Given the description of an element on the screen output the (x, y) to click on. 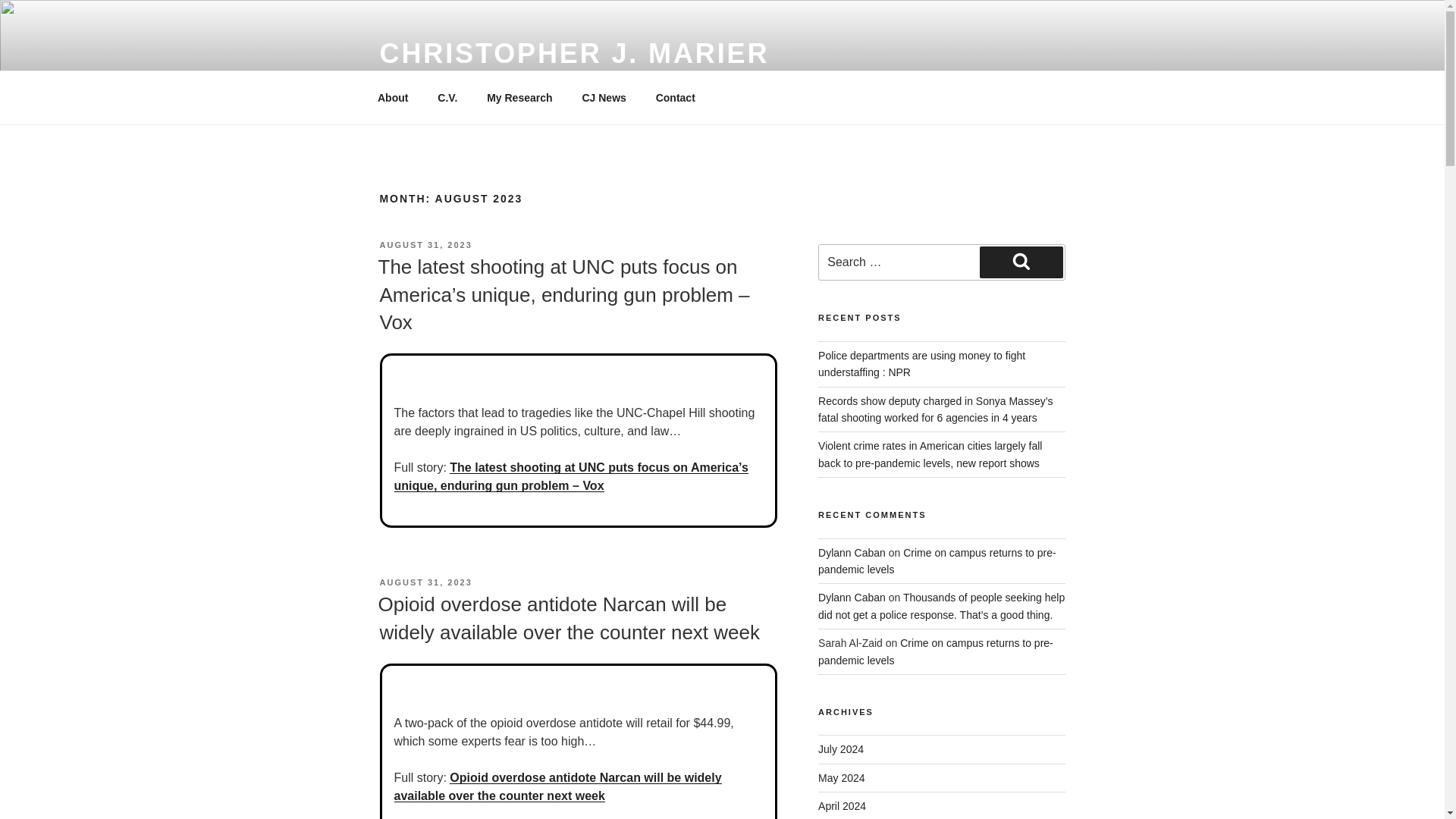
C.V. (447, 97)
CJ News (604, 97)
My Research (520, 97)
Contact (674, 97)
AUGUST 31, 2023 (424, 582)
About (392, 97)
CHRISTOPHER J. MARIER (573, 52)
AUGUST 31, 2023 (424, 244)
